Given the description of an element on the screen output the (x, y) to click on. 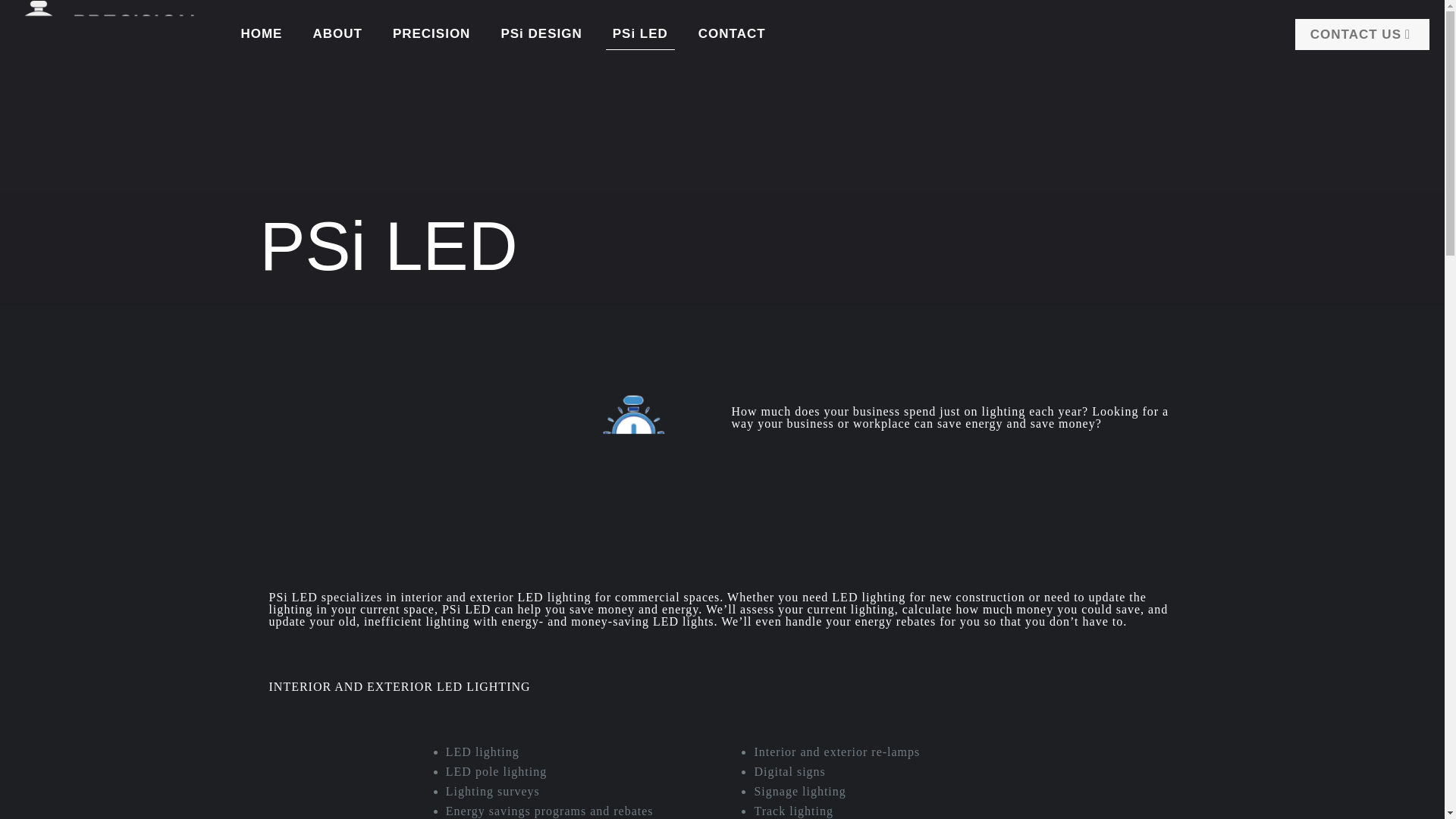
Precision Services (108, 28)
CONTACT US (1362, 33)
PRECISION (431, 33)
ABOUT (337, 33)
CONTACT (731, 33)
HOME (261, 33)
PSi DESIGN (540, 33)
PSi LED (639, 33)
